Given the description of an element on the screen output the (x, y) to click on. 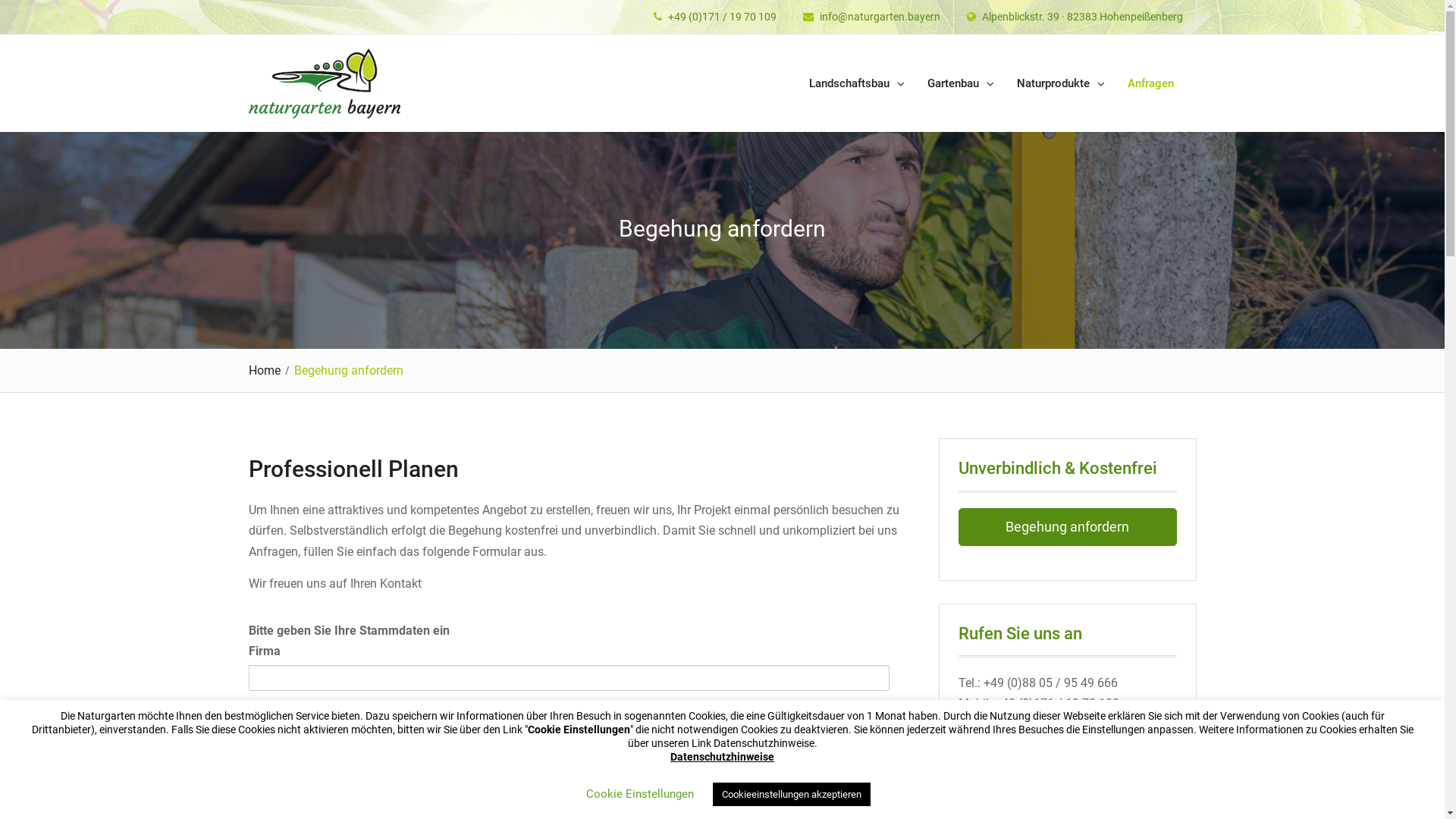
Landschaftsbau Element type: text (856, 83)
Naturprodukte Element type: text (1060, 83)
Datenschutzhinweise Element type: text (722, 756)
Home Element type: text (268, 370)
Begehung anfordern Element type: text (1067, 527)
Cookieeinstellungen akzeptieren Element type: text (791, 794)
Gartenbau Element type: text (960, 83)
Cookie Einstellungen Element type: text (639, 793)
+49 (0)171 / 19 70 109 Element type: text (721, 16)
info@naturgarten.bayern Element type: text (879, 16)
Anfragen Element type: text (1150, 83)
